Given the description of an element on the screen output the (x, y) to click on. 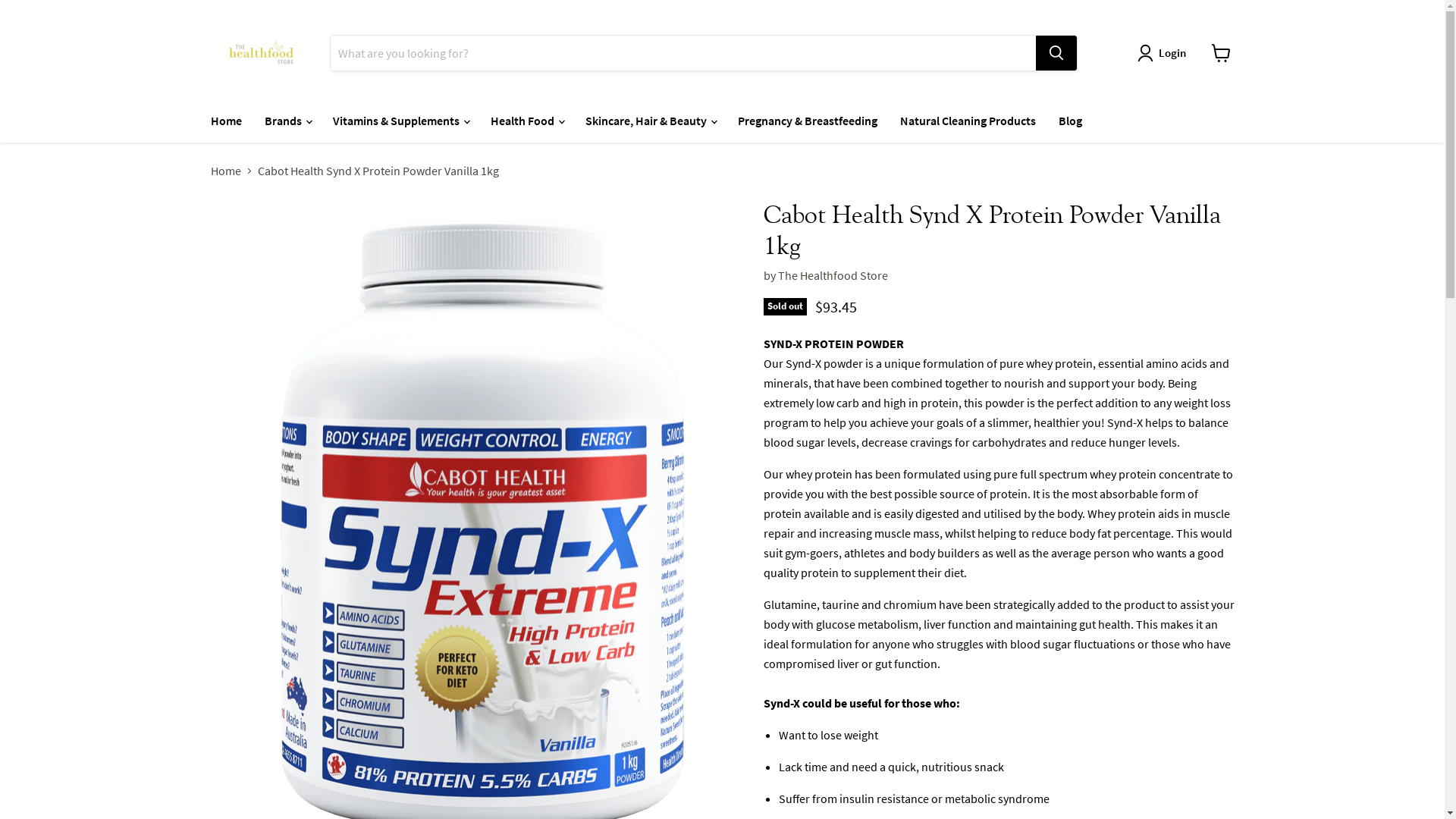
View cart Element type: text (1221, 52)
Blog Element type: text (1069, 120)
Home Element type: text (225, 170)
Home Element type: text (225, 120)
Pregnancy & Breastfeeding Element type: text (807, 120)
Login Element type: text (1164, 52)
The Healthfood Store Element type: text (833, 274)
Natural Cleaning Products Element type: text (967, 120)
